Given the description of an element on the screen output the (x, y) to click on. 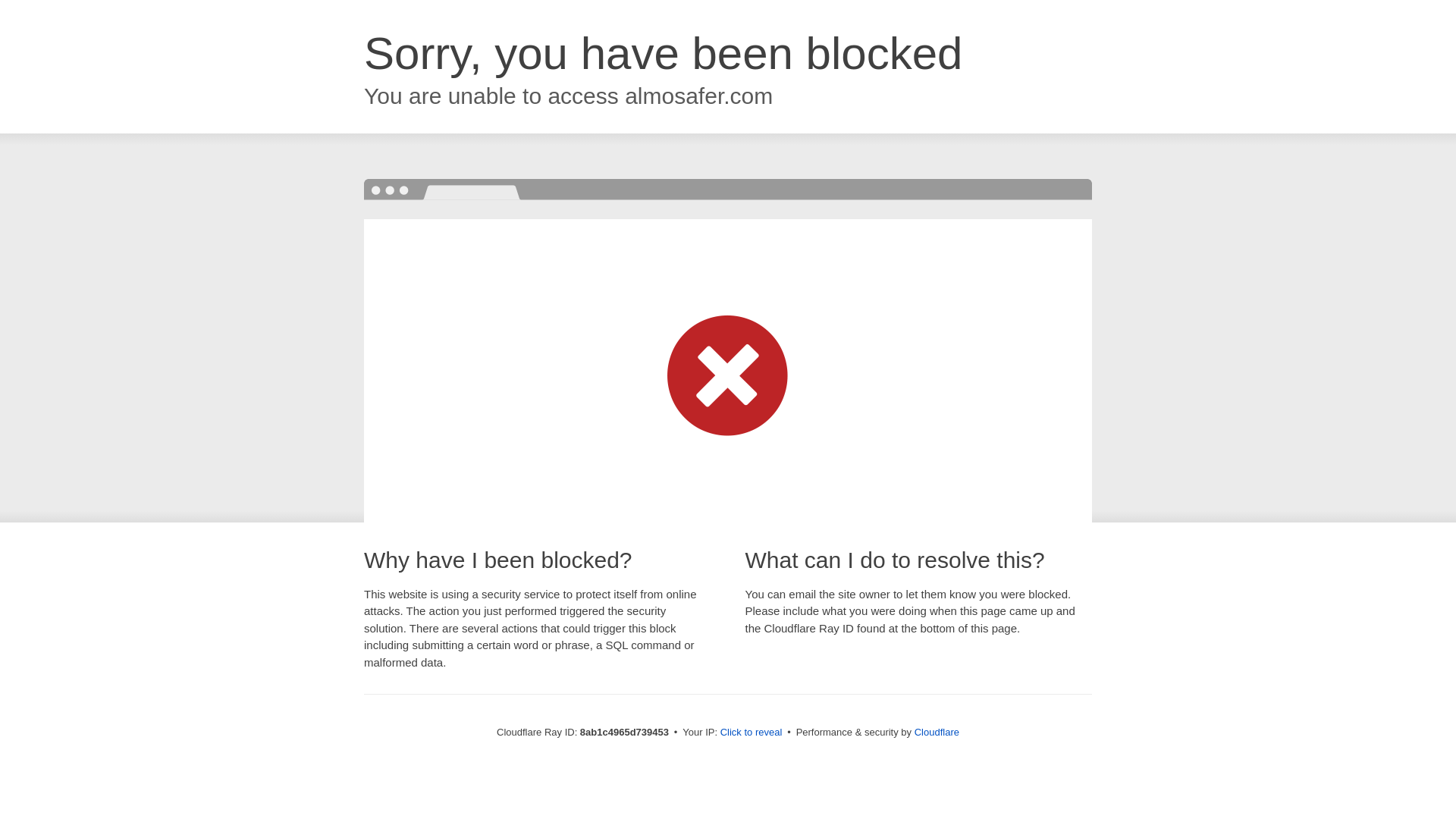
Cloudflare (936, 731)
Click to reveal (751, 732)
